Given the description of an element on the screen output the (x, y) to click on. 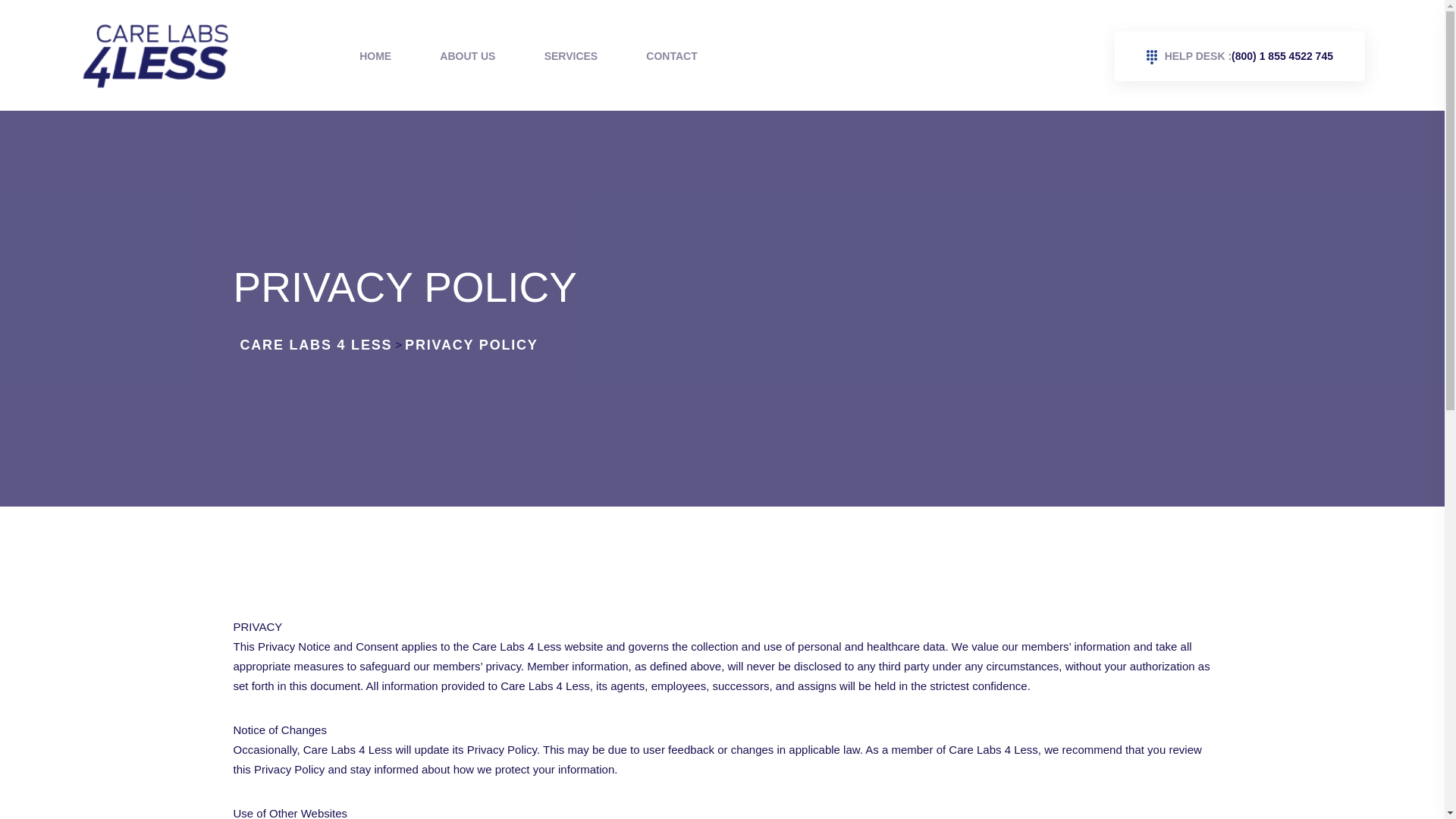
Home (375, 55)
HOME (375, 55)
Services (571, 55)
About us (467, 55)
CONTACT (671, 55)
CARE LABS 4 LESS (315, 344)
ABOUT US (467, 55)
Contact (671, 55)
Go to Care Labs 4 Less. (315, 344)
SERVICES (571, 55)
